Given the description of an element on the screen output the (x, y) to click on. 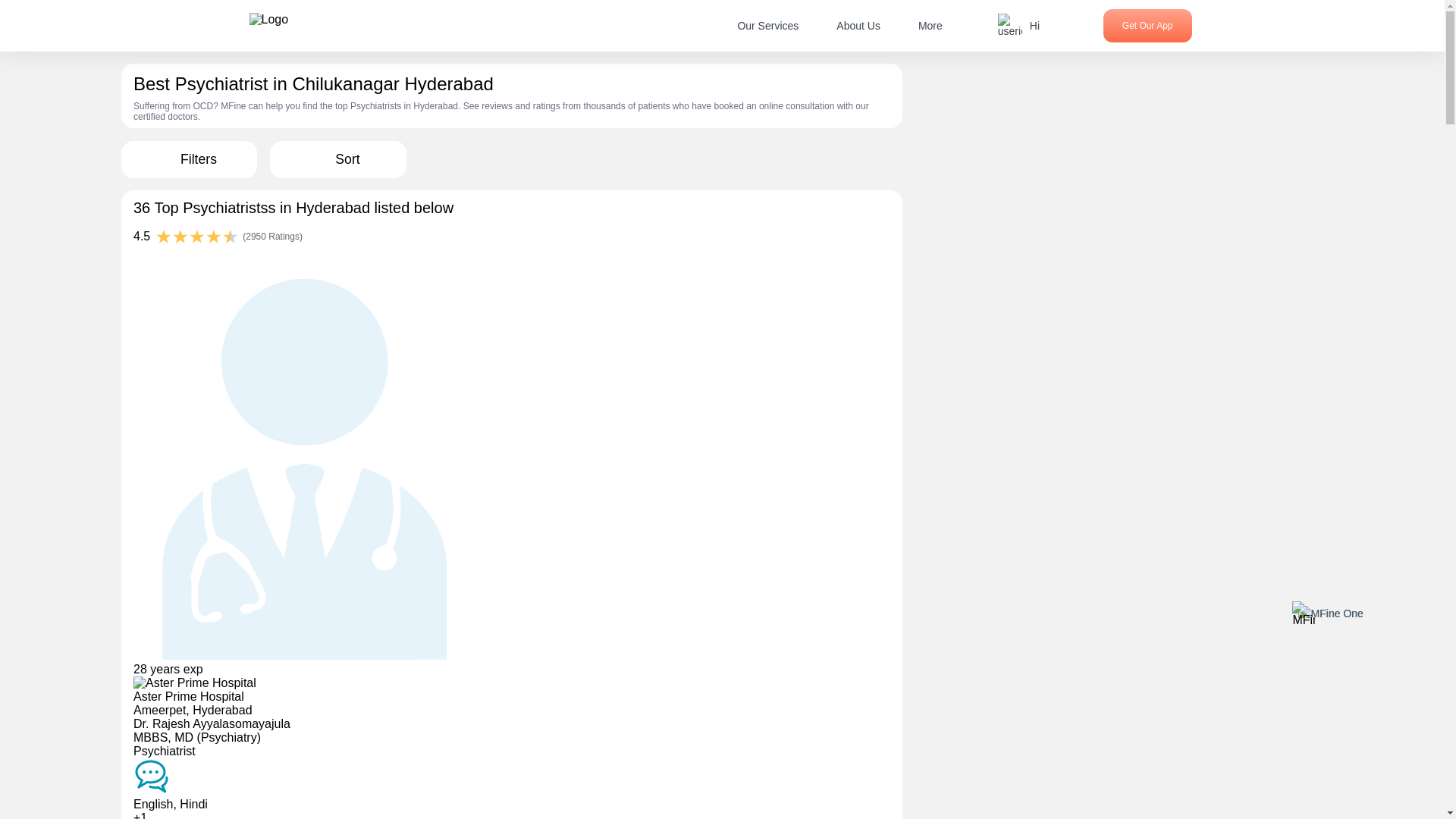
4.5 Stars (196, 238)
Get Our App (1147, 25)
About Us (857, 25)
